Given the description of an element on the screen output the (x, y) to click on. 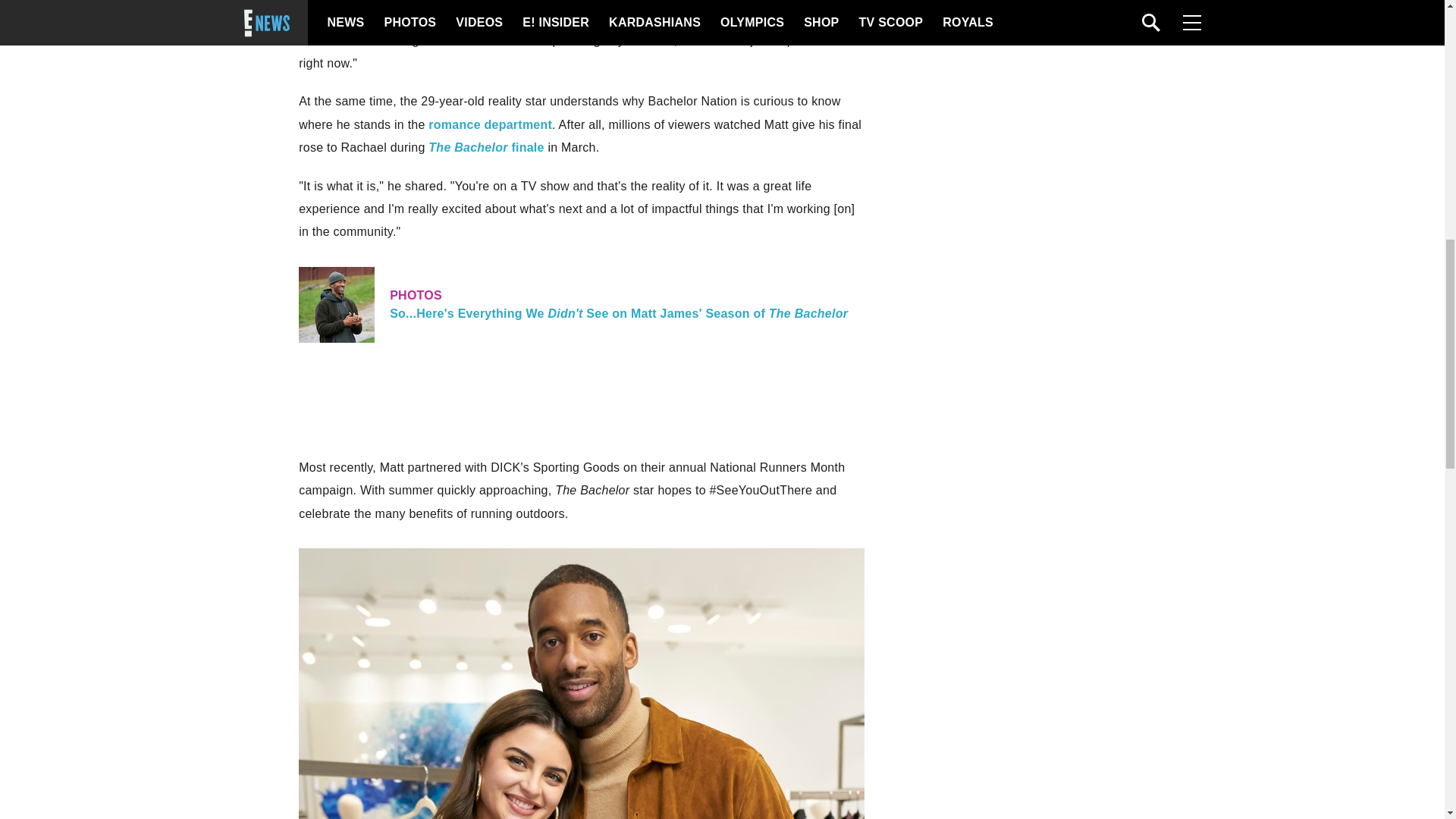
The Bachelor finale (485, 146)
romance department (489, 124)
